Given the description of an element on the screen output the (x, y) to click on. 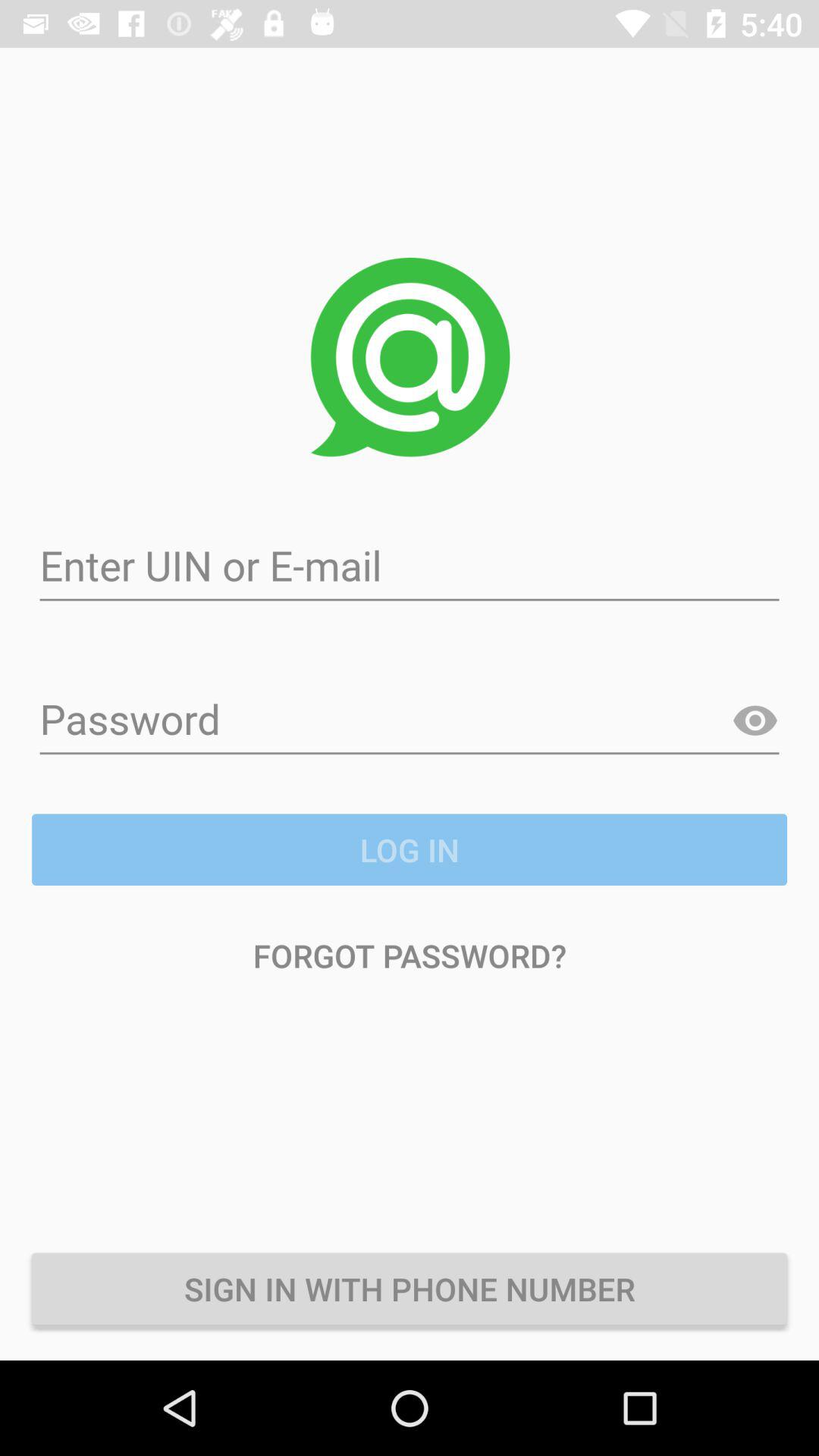
click icon above the sign in with item (409, 955)
